Given the description of an element on the screen output the (x, y) to click on. 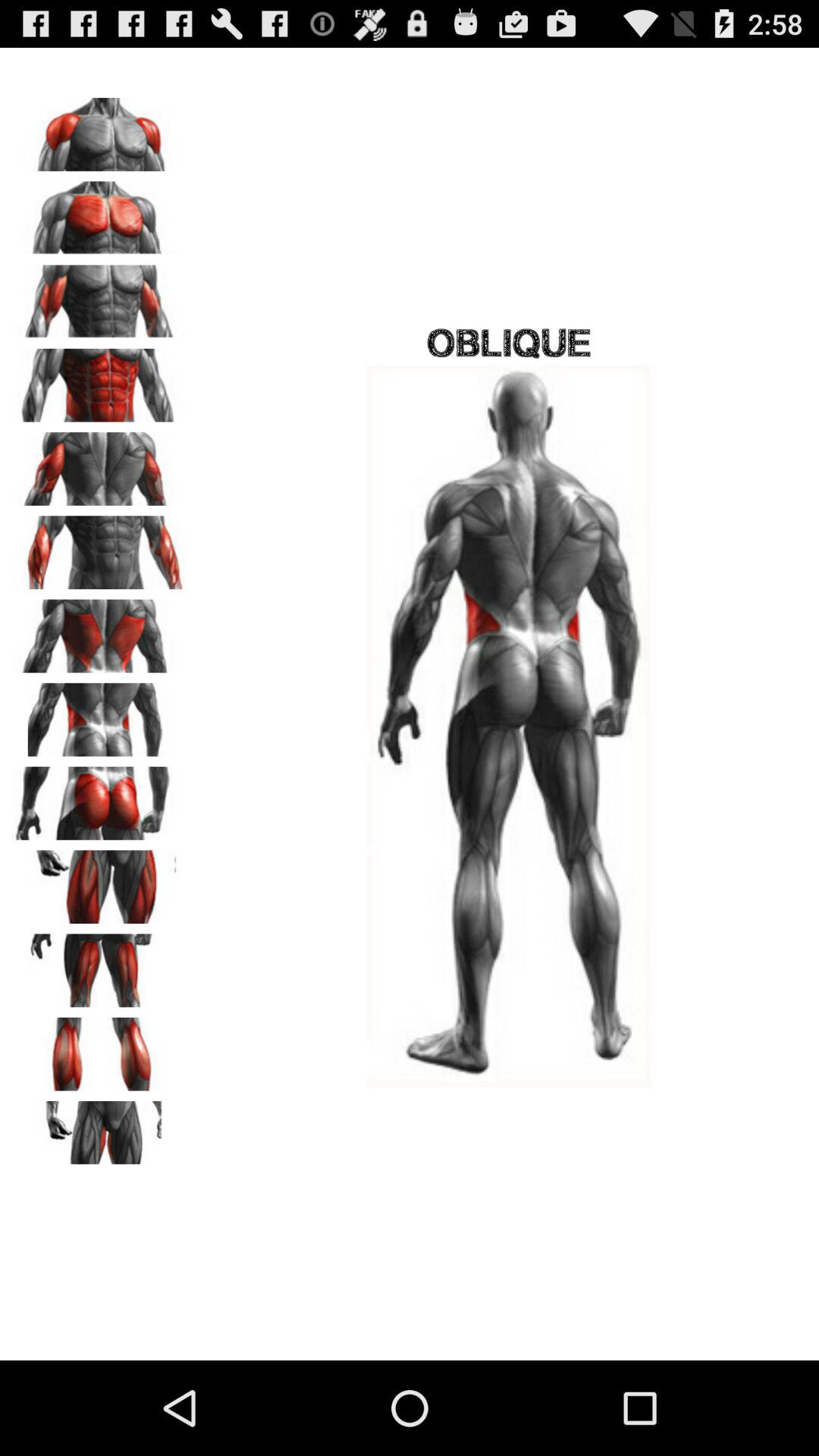
switch exercise panel (99, 463)
